Given the description of an element on the screen output the (x, y) to click on. 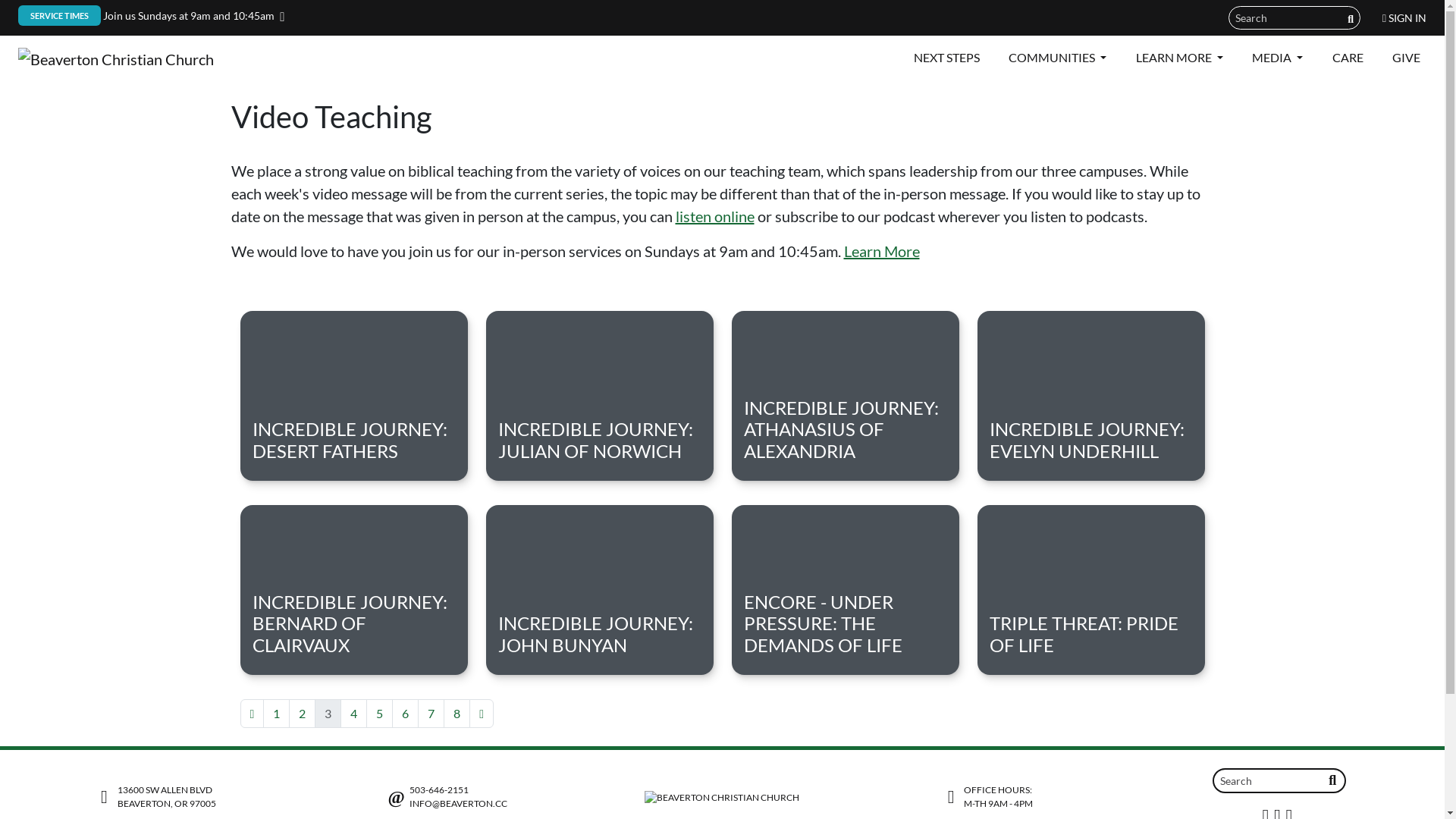
INCREDIBLE JOURNEY: BERNARD OF CLAIRVAUX Element type: text (353, 589)
ENCORE - UNDER PRESSURE: THE DEMANDS OF LIFE Element type: text (844, 589)
Learn More Element type: text (881, 250)
6 Element type: text (405, 713)
SIGN IN Element type: text (1404, 17)
4 Element type: text (353, 713)
MEDIA Element type: text (1276, 57)
GIVE Element type: text (1406, 57)
7 Element type: text (430, 713)
3 Element type: text (327, 713)
INCREDIBLE JOURNEY: EVELYN UNDERHILL Element type: text (1090, 395)
CARE Element type: text (1347, 57)
503-646-2151 Element type: text (438, 789)
INFO@BEAVERTON.CC Element type: text (458, 803)
listen online Element type: text (713, 216)
1 Element type: text (276, 713)
COMMUNITIES Element type: text (1057, 57)
INCREDIBLE JOURNEY: ATHANASIUS OF ALEXANDRIA Element type: text (844, 395)
13600 SW ALLEN BLVD
BEAVERTON, OR 97005 Element type: text (155, 796)
INCREDIBLE JOURNEY: JOHN BUNYAN Element type: text (598, 589)
8 Element type: text (456, 713)
INCREDIBLE JOURNEY: DESERT FATHERS Element type: text (353, 395)
SERVICE TIMES
:
Join us Sundays at 9am and 10:45am Element type: text (148, 15)
5 Element type: text (379, 713)
NEXT STEPS Element type: text (946, 57)
LEARN MORE Element type: text (1179, 57)
2 Element type: text (301, 713)
TRIPLE THREAT: PRIDE OF LIFE Element type: text (1090, 589)
INCREDIBLE JOURNEY: JULIAN OF NORWICH Element type: text (598, 395)
